Given the description of an element on the screen output the (x, y) to click on. 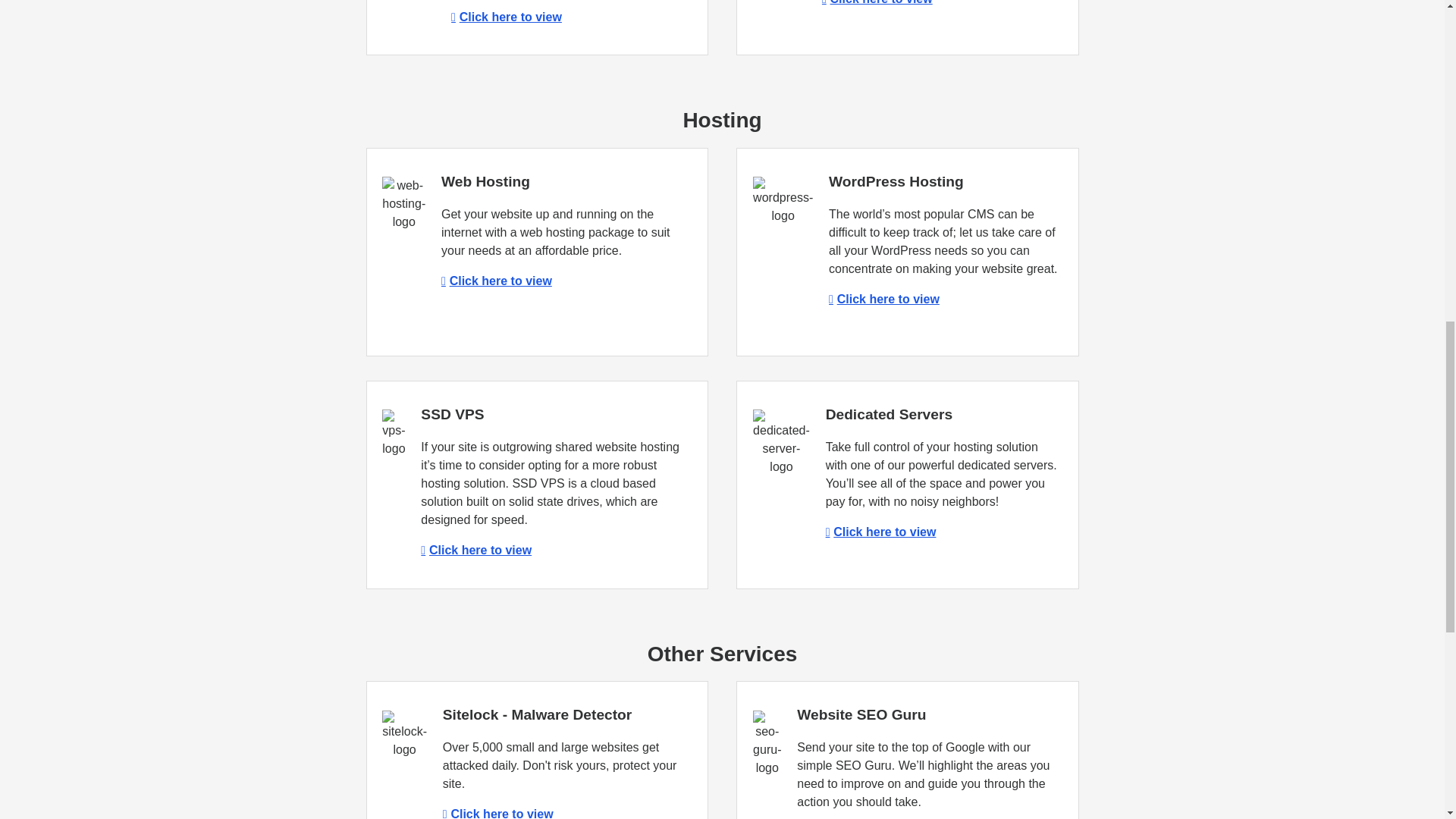
Click here to view (497, 813)
Click here to view (883, 298)
Click here to view (496, 280)
Click here to view (475, 549)
Click here to view (506, 16)
Click here to view (877, 2)
Click here to view (880, 531)
